Given the description of an element on the screen output the (x, y) to click on. 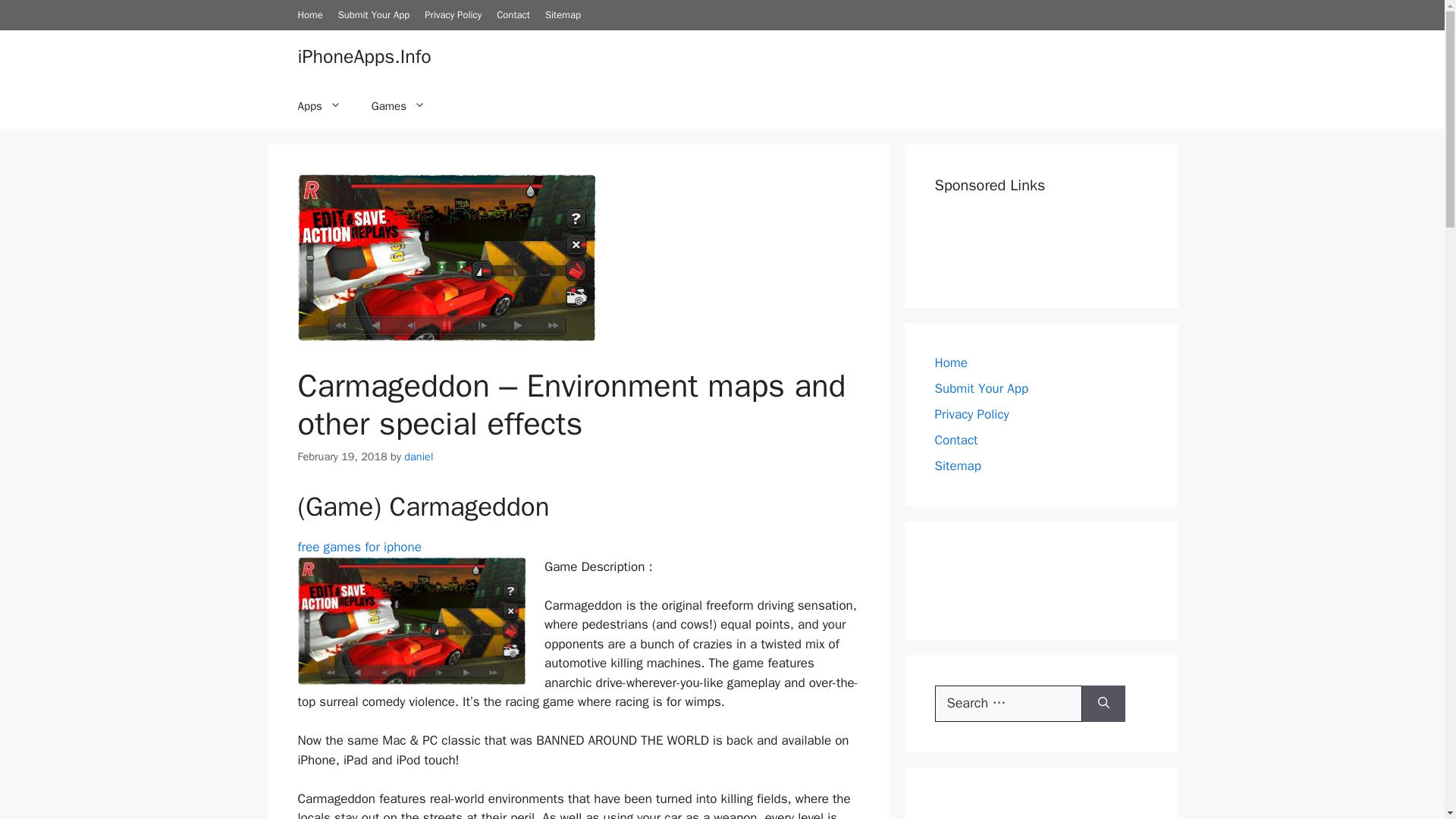
Sitemap (562, 14)
Games (398, 105)
iPhoneApps.Info (363, 55)
Apps (318, 105)
Search for: (1007, 703)
Home (309, 14)
Contact (512, 14)
Submit Your App (373, 14)
Privacy Policy (453, 14)
View all posts by daniel (418, 455)
